Given the description of an element on the screen output the (x, y) to click on. 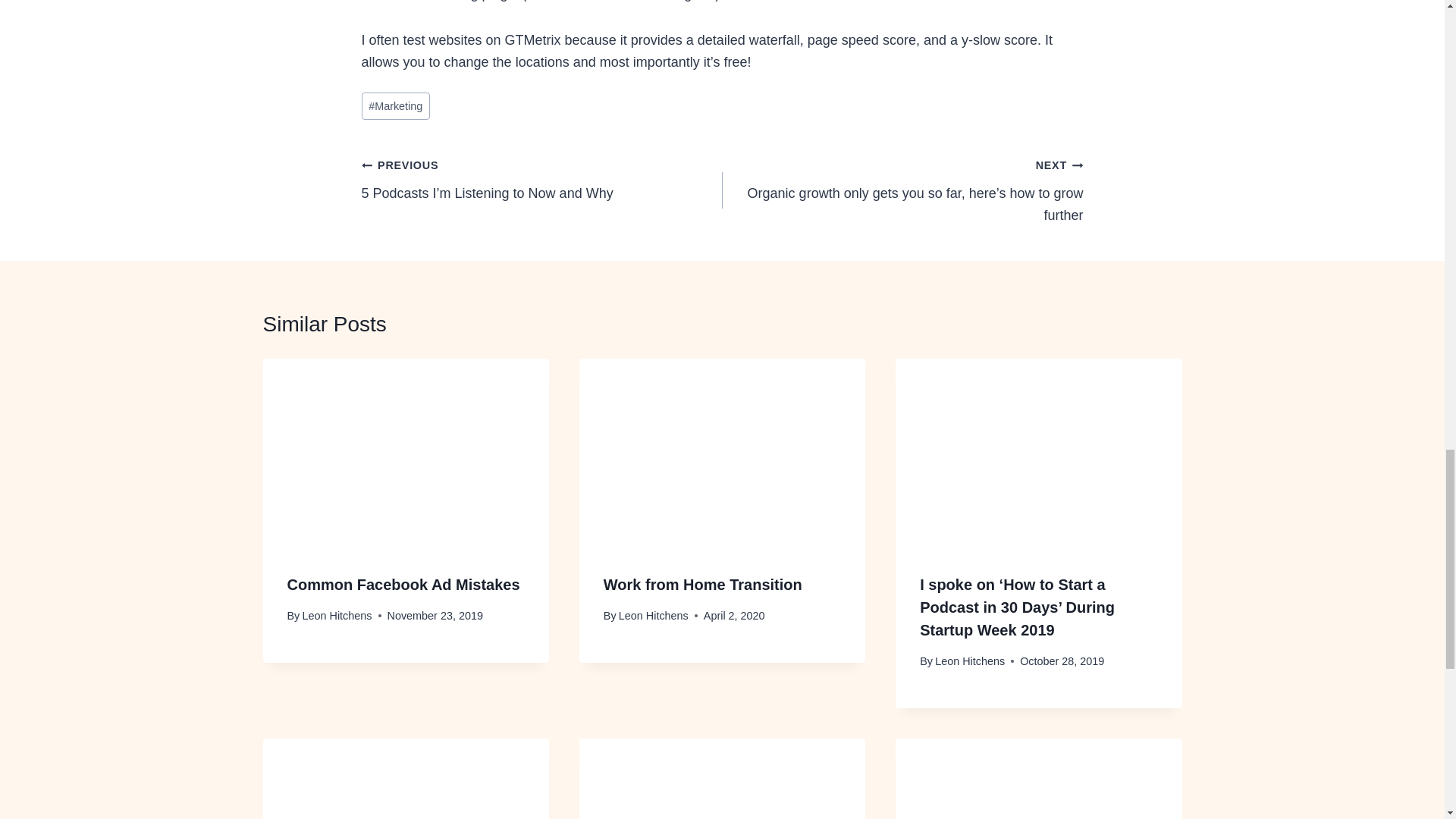
Leon Hitchens (336, 615)
Leon Hitchens (653, 615)
Work from Home Transition (703, 584)
Common Facebook Ad Mistakes (402, 584)
Leon Hitchens (969, 661)
Marketing (395, 106)
